Given the description of an element on the screen output the (x, y) to click on. 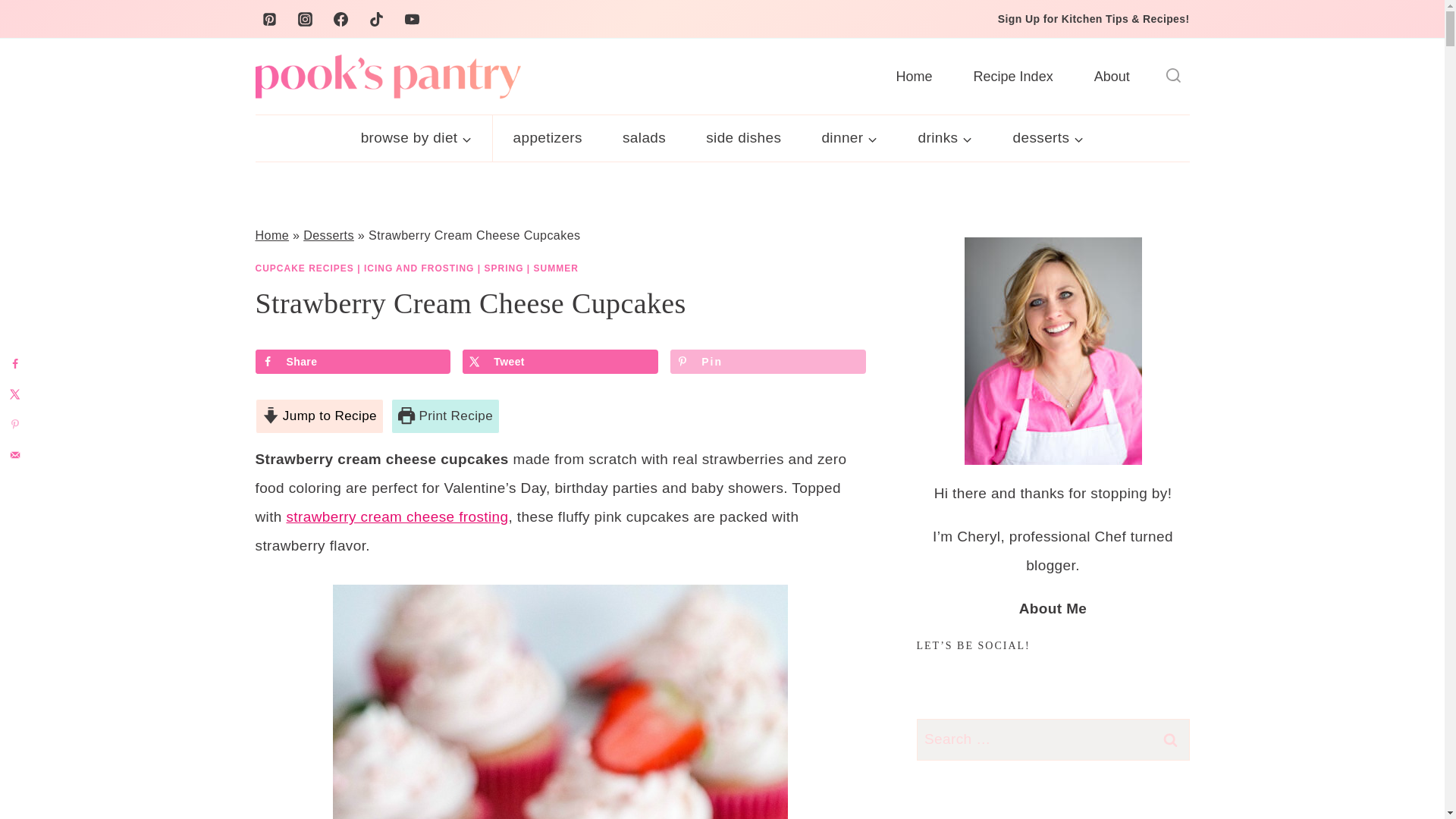
side dishes (743, 138)
Save to Pinterest (767, 361)
Send over email (15, 454)
Recipe Index (1013, 76)
salads (643, 138)
Share on Facebook (351, 361)
Share on X (15, 394)
Search (1170, 739)
Share on X (560, 361)
drinks (945, 138)
